Given the description of an element on the screen output the (x, y) to click on. 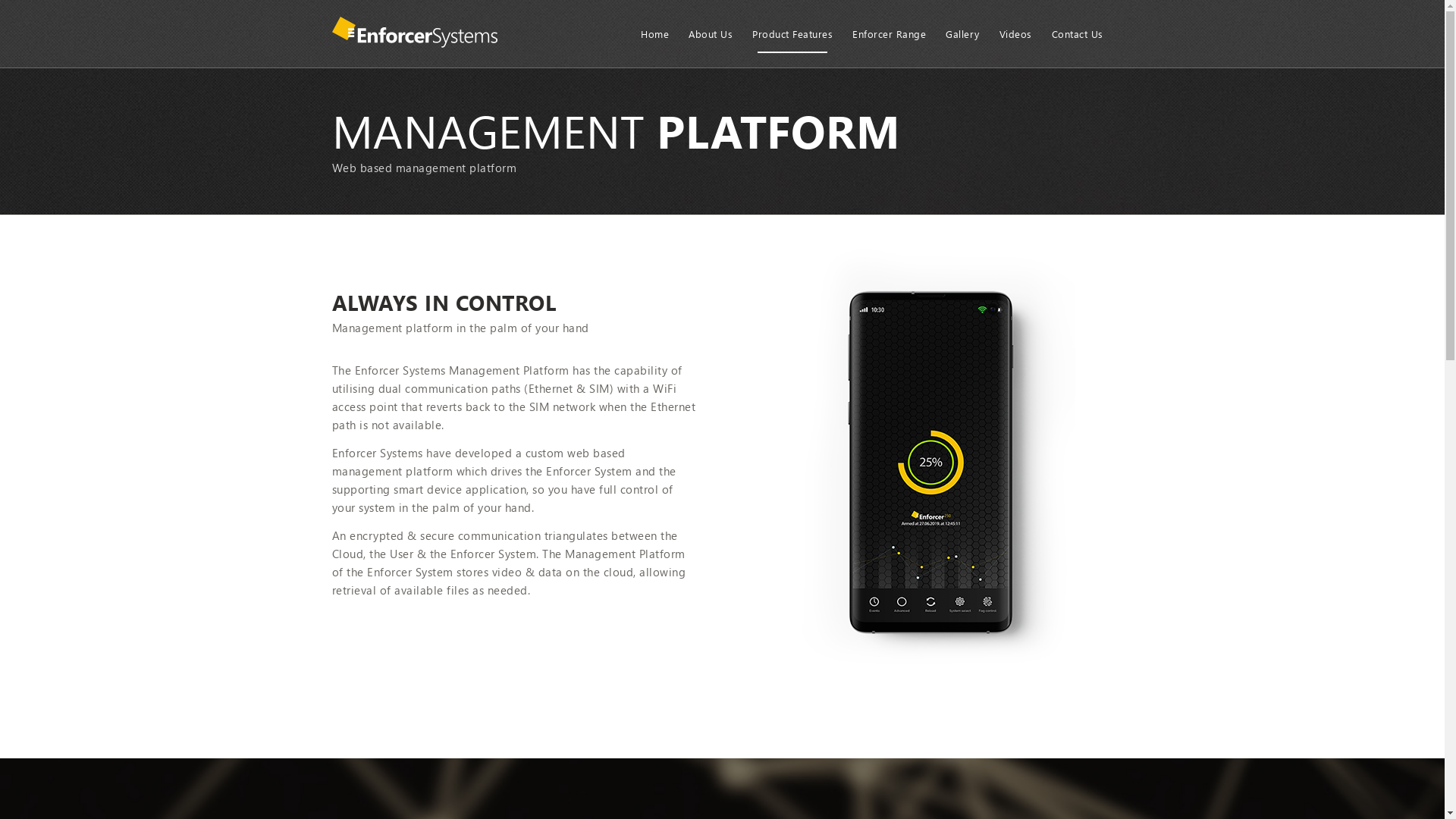
Home Element type: text (654, 33)
Enforcer-logo-svg-white2 Element type: hover (415, 33)
Contact Us Element type: text (1077, 33)
Videos Element type: text (1014, 33)
Product Features Element type: text (792, 33)
Gallery Element type: text (962, 33)
About Us Element type: text (710, 33)
Enforcer Range Element type: text (888, 33)
Enforcer-App-opt Element type: hover (929, 454)
